Given the description of an element on the screen output the (x, y) to click on. 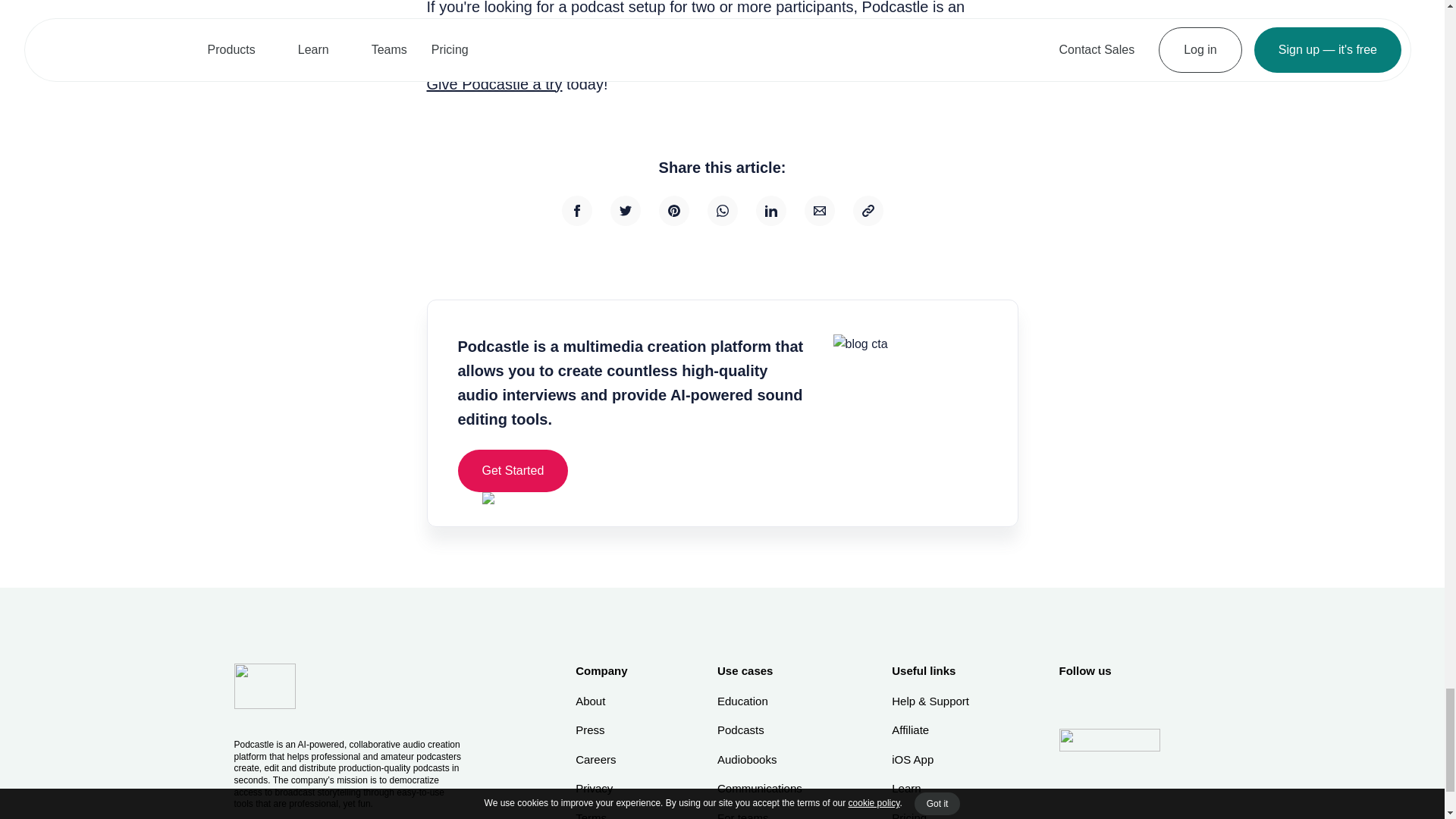
Careers (601, 759)
Audiobooks (759, 759)
Give Podcastle a try (494, 84)
Privacy (601, 788)
Share on Whatsapp (721, 210)
Share on Twitter (625, 210)
Send via email (818, 210)
Share on Pinterest (673, 210)
Share on Linkedin (770, 210)
Share on Facebook (575, 210)
Press (601, 730)
Podcasts (759, 730)
About (601, 701)
Copy the permalink (866, 210)
Education (759, 701)
